Given the description of an element on the screen output the (x, y) to click on. 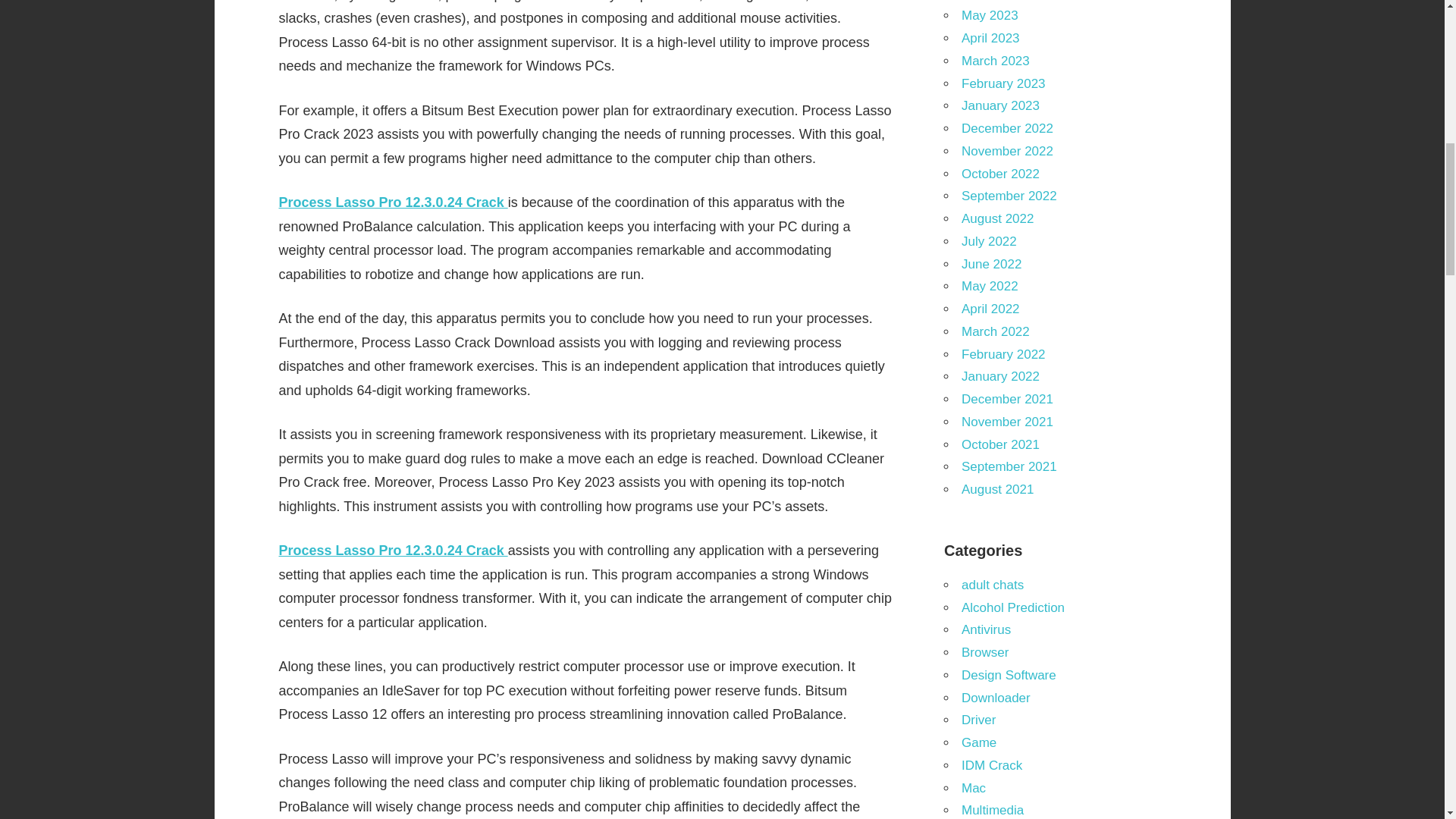
Process Lasso Pro 12.3.0.24 Crack (393, 201)
Process Lasso Pro 12.3.0.24 Crack (393, 549)
